Given the description of an element on the screen output the (x, y) to click on. 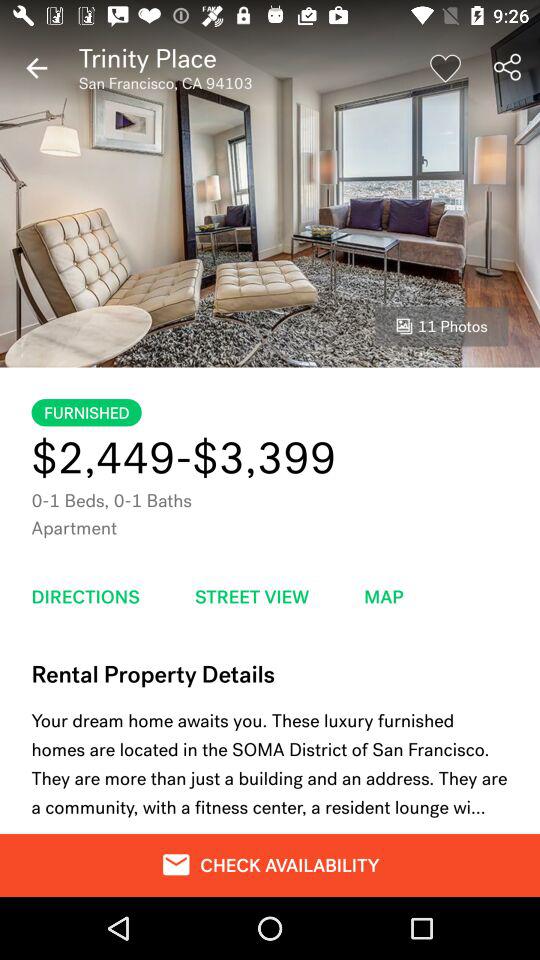
go to previous (36, 68)
